Given the description of an element on the screen output the (x, y) to click on. 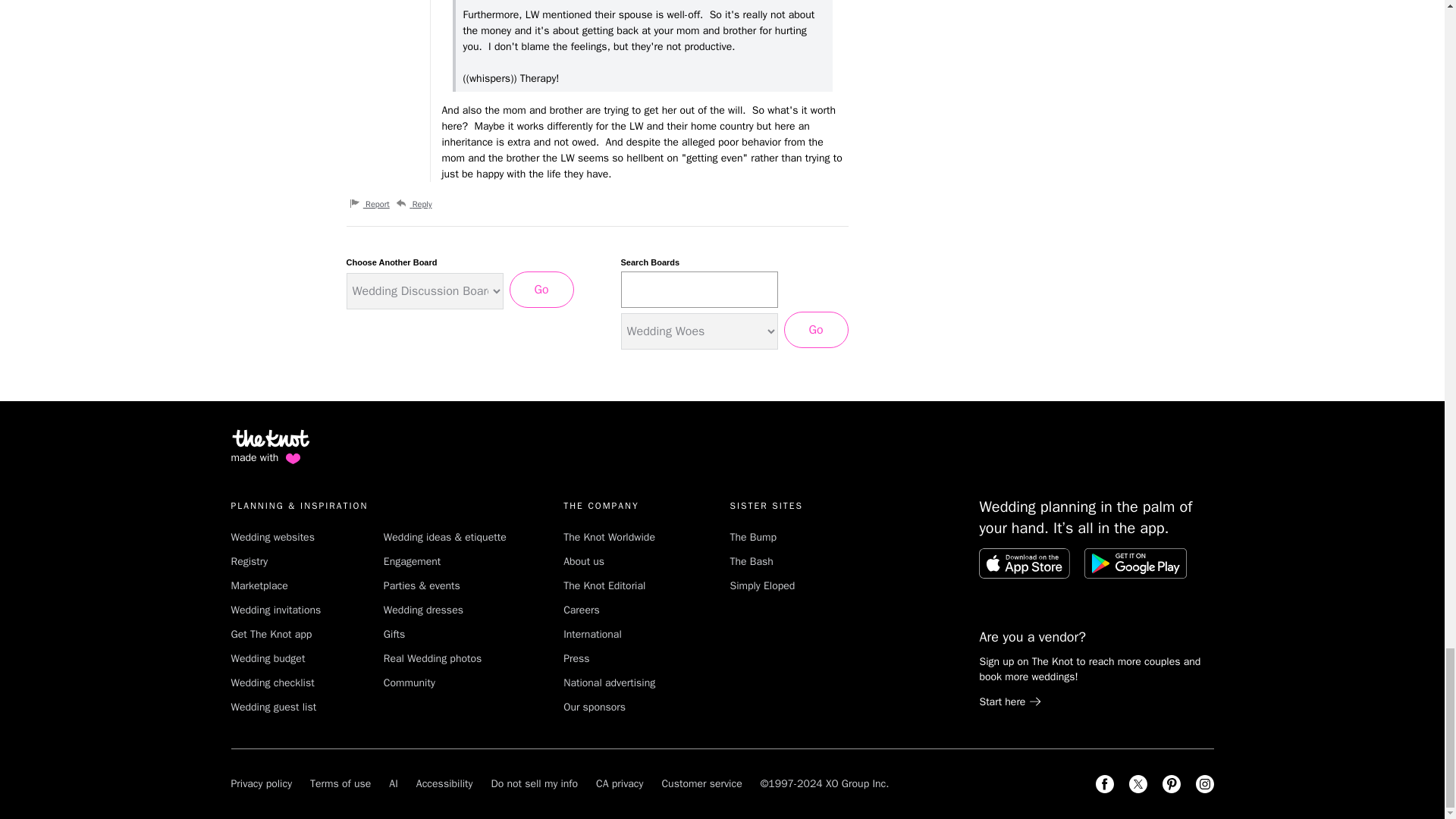
Go (816, 330)
Go (541, 289)
love (292, 458)
